Given the description of an element on the screen output the (x, y) to click on. 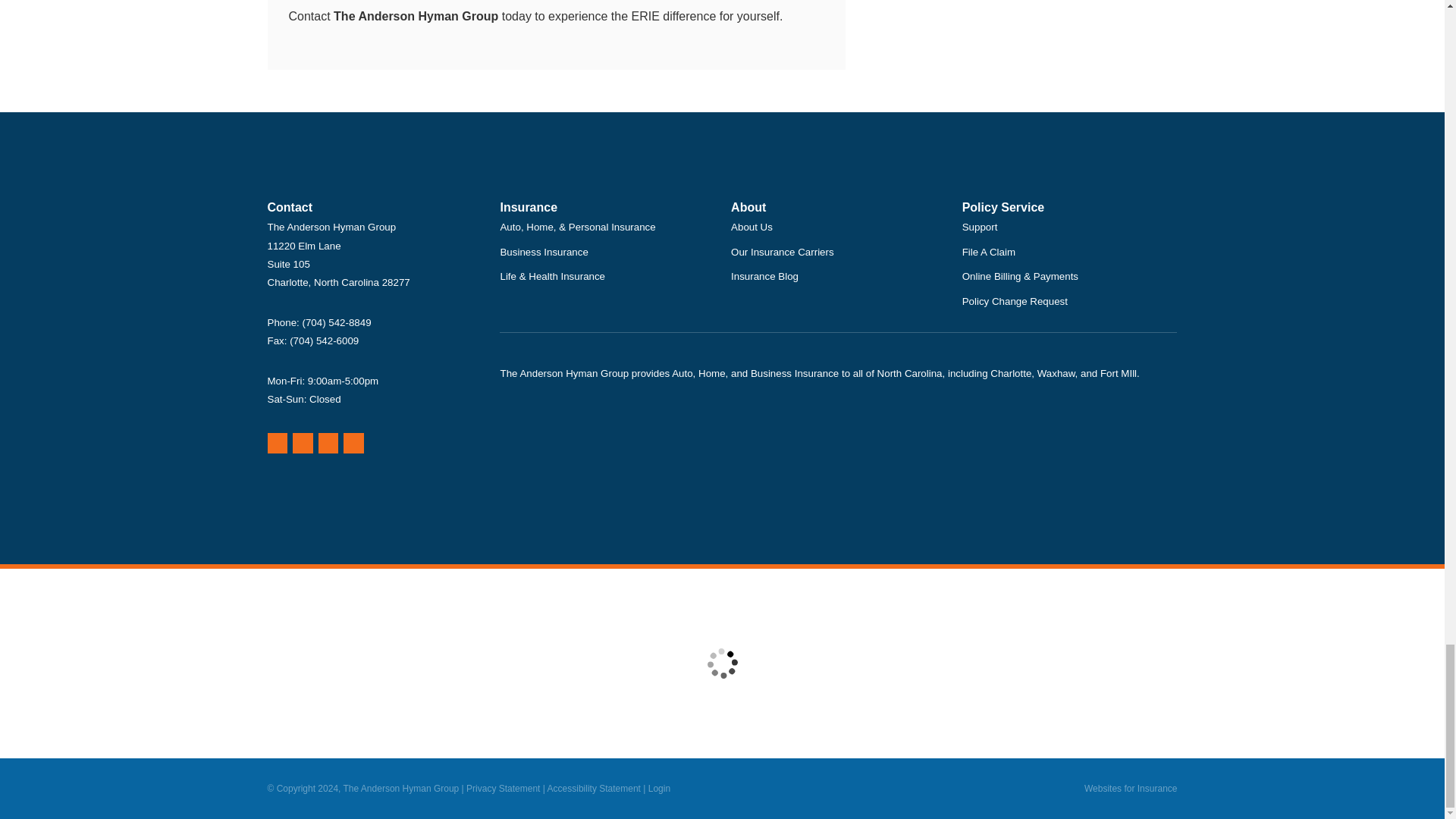
Yelp (302, 443)
Facebook (328, 443)
Google Maps (276, 443)
Instagram (353, 443)
